Given the description of an element on the screen output the (x, y) to click on. 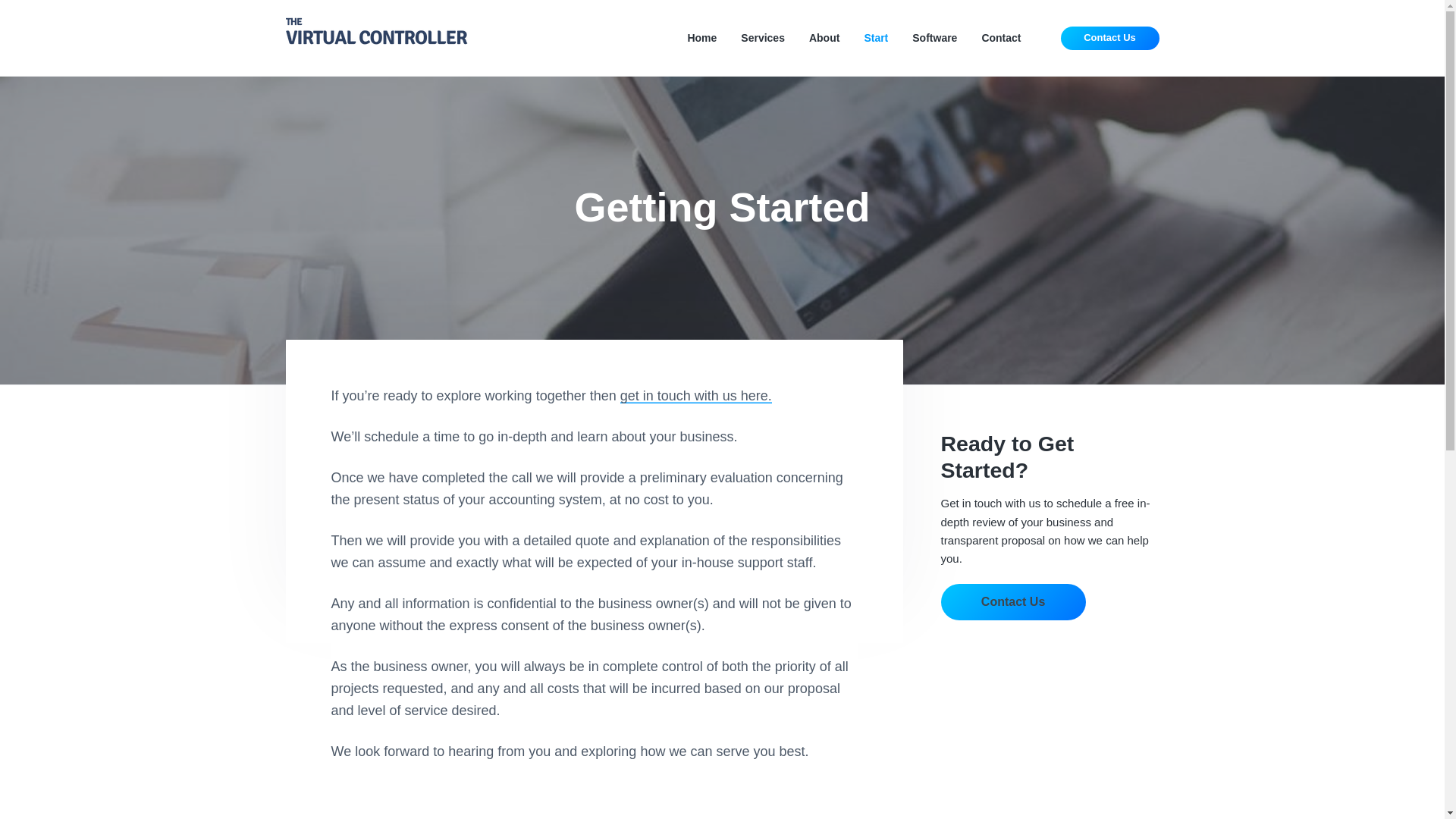
get in touch with us here. (695, 395)
About (824, 37)
Contact Us (1012, 601)
Home (701, 37)
Software (934, 37)
Contact Us (1109, 37)
Start (875, 37)
Contact (1000, 37)
Services (762, 37)
